Given the description of an element on the screen output the (x, y) to click on. 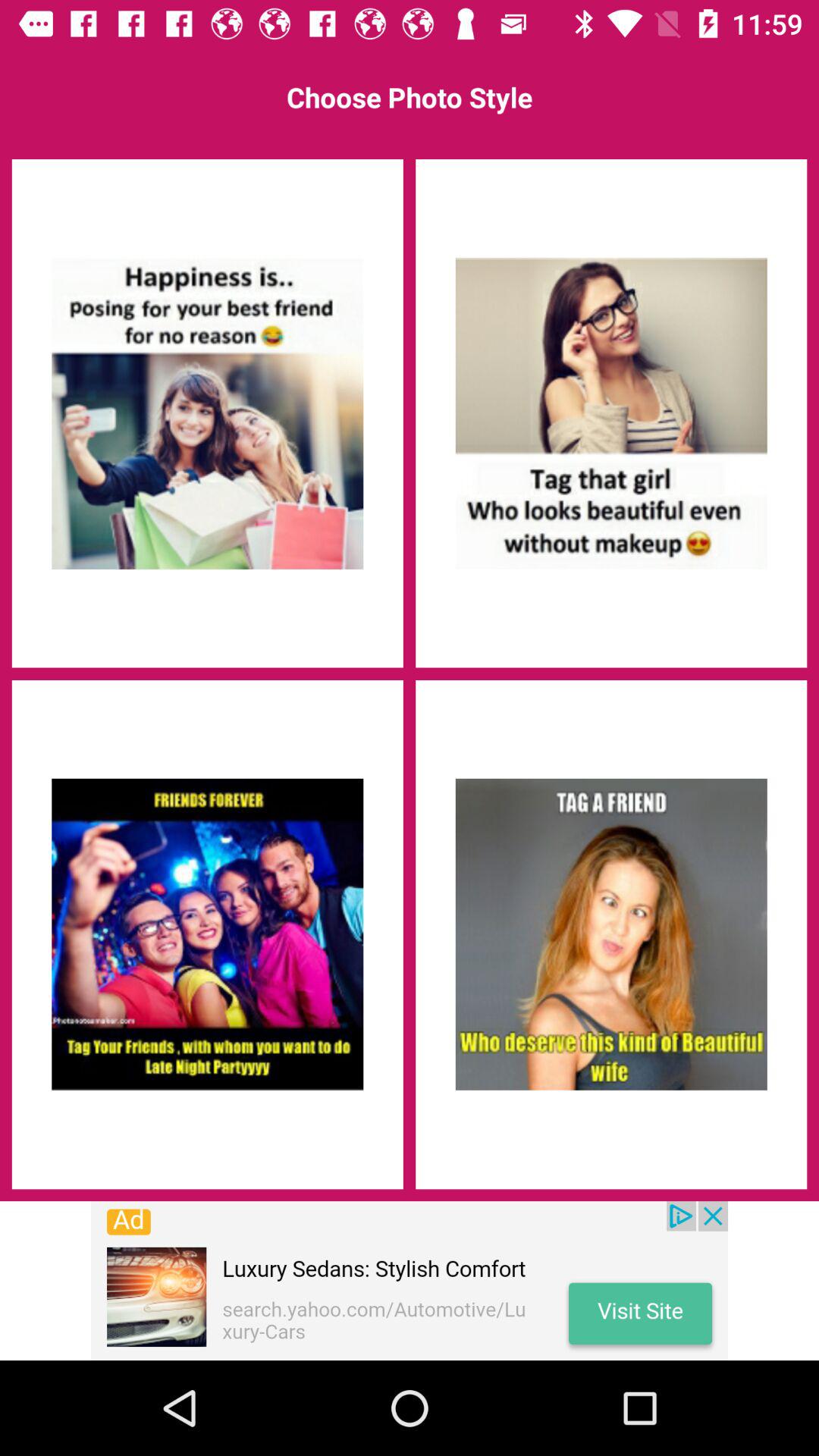
see advertisement (409, 1280)
